Given the description of an element on the screen output the (x, y) to click on. 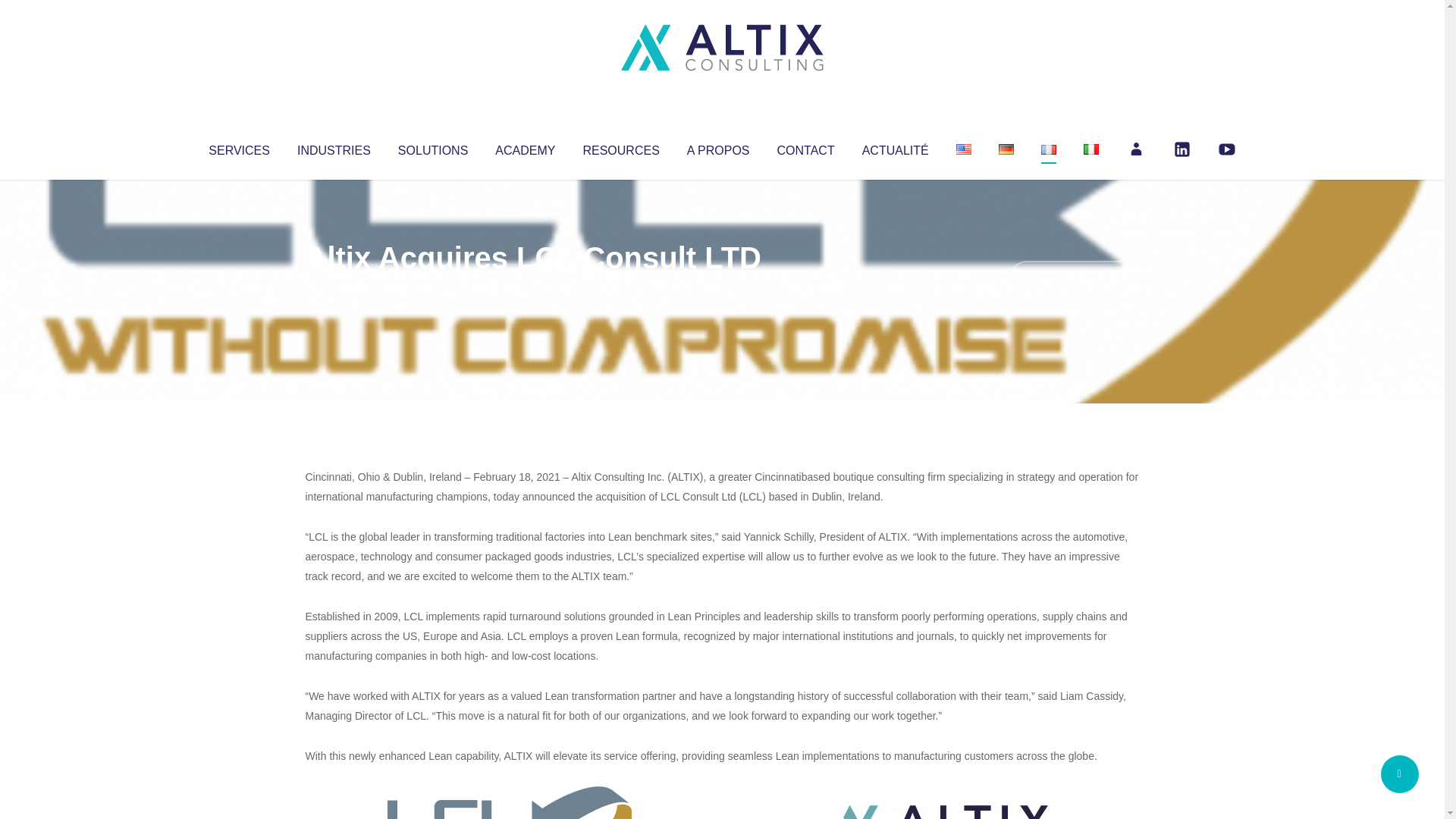
Articles par Altix (333, 287)
ACADEMY (524, 146)
Uncategorized (530, 287)
No Comments (1073, 278)
RESOURCES (620, 146)
INDUSTRIES (334, 146)
SERVICES (238, 146)
A PROPOS (718, 146)
SOLUTIONS (432, 146)
Altix (333, 287)
